Given the description of an element on the screen output the (x, y) to click on. 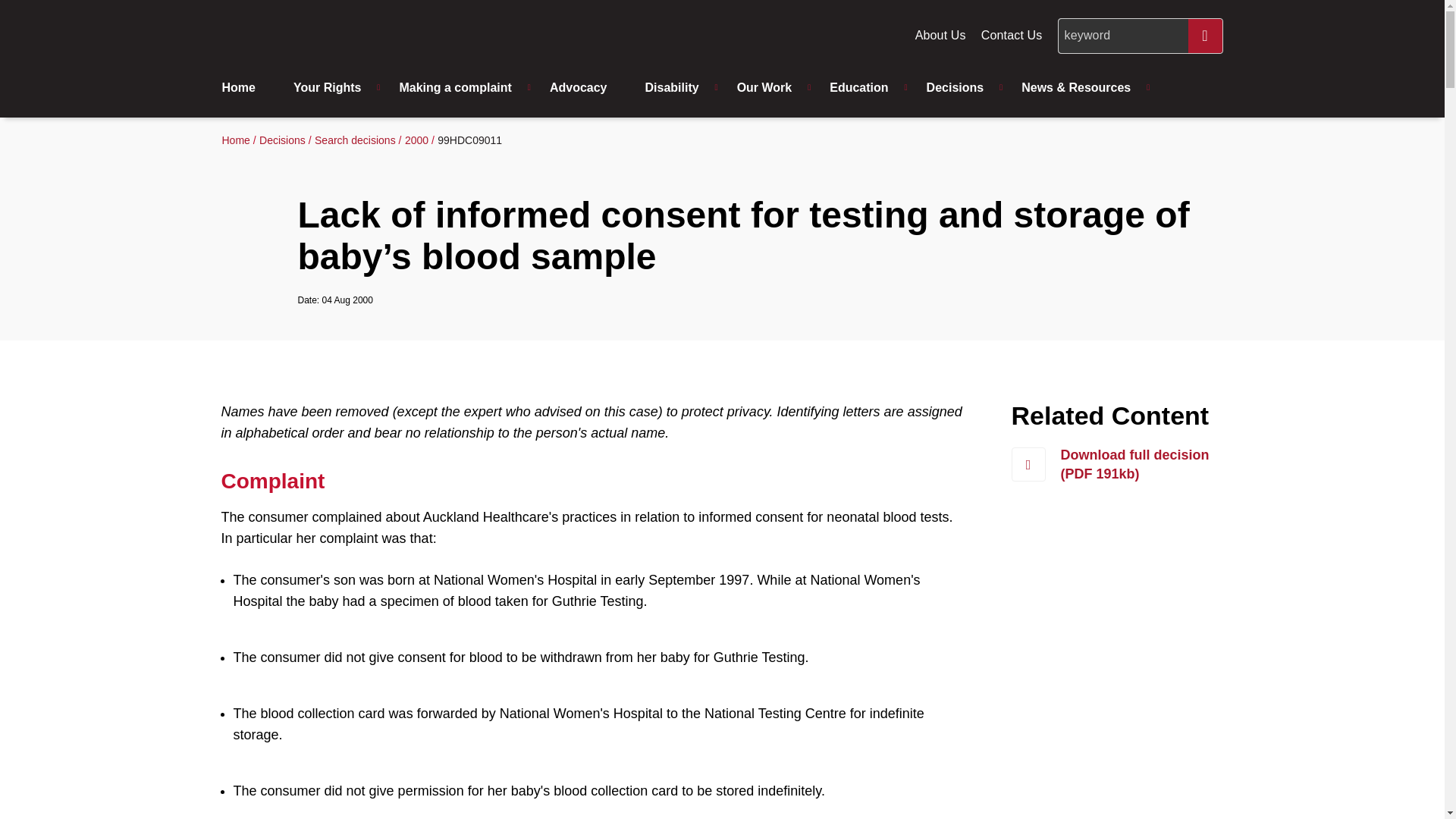
Your Rights (331, 87)
Home (249, 87)
Disability (674, 87)
Advocacy (582, 87)
Making a complaint (459, 87)
Education (862, 87)
Our Work (768, 87)
